Given the description of an element on the screen output the (x, y) to click on. 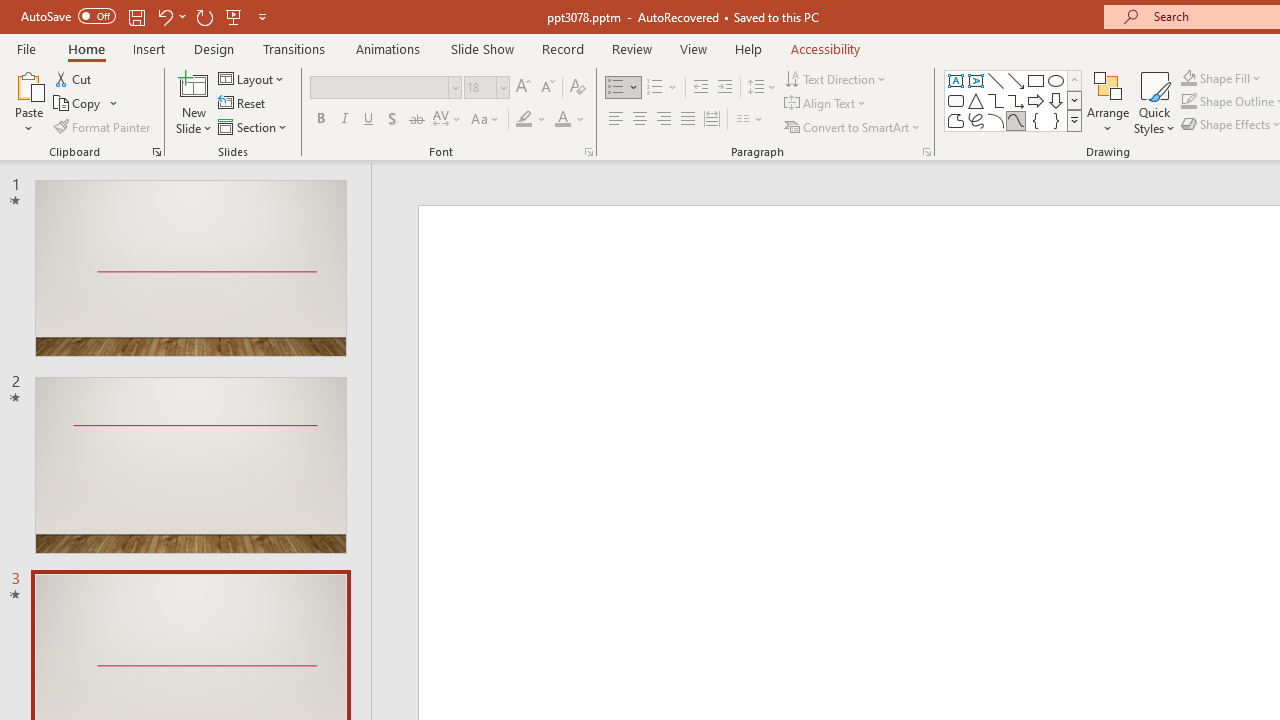
Shape Fill Dark Green, Accent 2 (1188, 78)
